Given the description of an element on the screen output the (x, y) to click on. 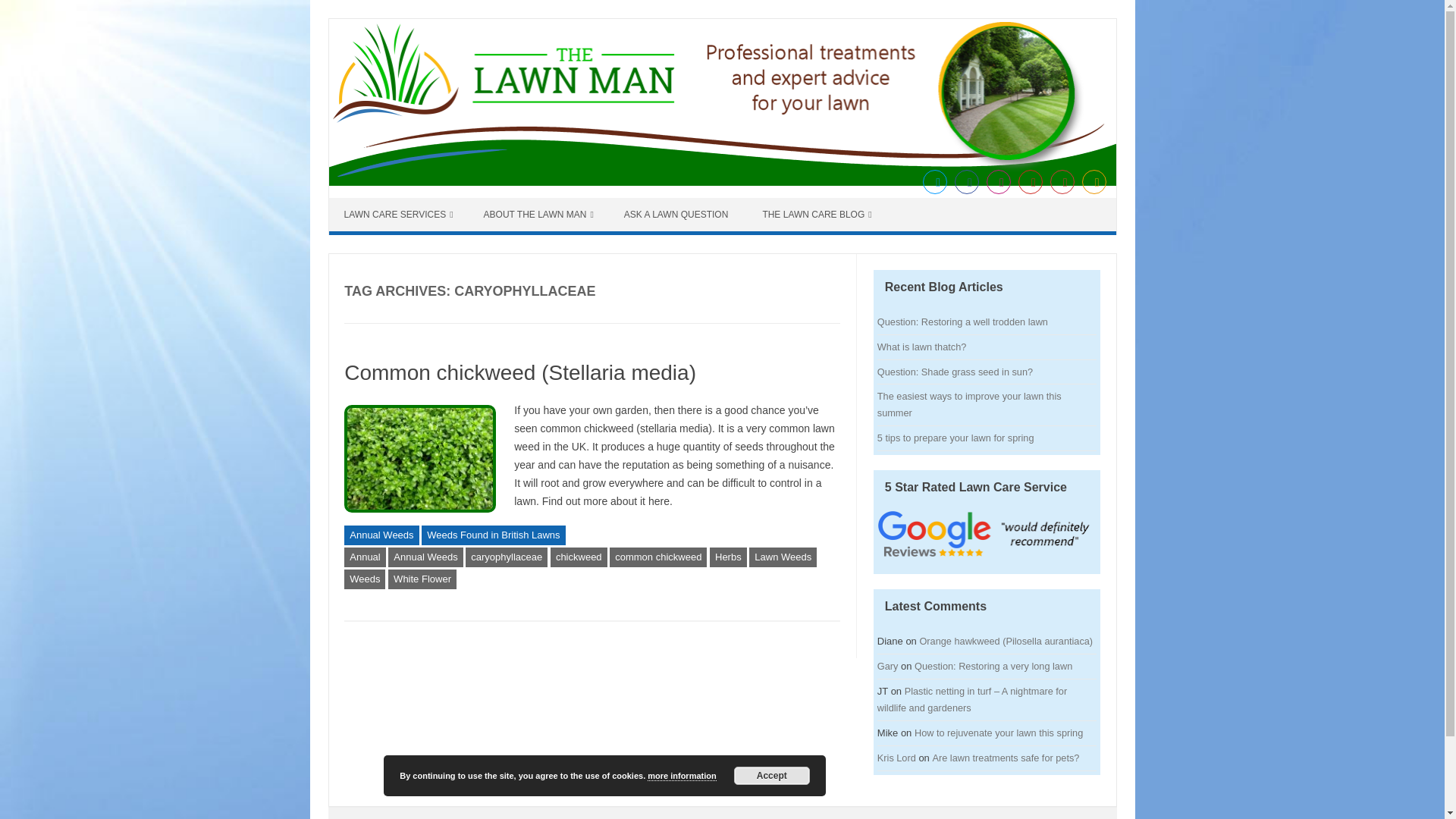
Annual Weeds (381, 535)
The Lawn Man (722, 182)
LAWN CARE SERVICES (398, 214)
Skip to content (379, 205)
Skip to content (379, 205)
ASK A LAWN QUESTION (678, 214)
caryophyllaceae (506, 557)
THE LAWN CARE BLOG (816, 214)
Lawn Care Treatments and Services Provided (398, 214)
About The Lawn Man (538, 214)
Weeds Found in British Lawns (493, 535)
ABOUT THE LAWN MAN (538, 214)
Annual (364, 557)
Annual Weeds (425, 557)
